Given the description of an element on the screen output the (x, y) to click on. 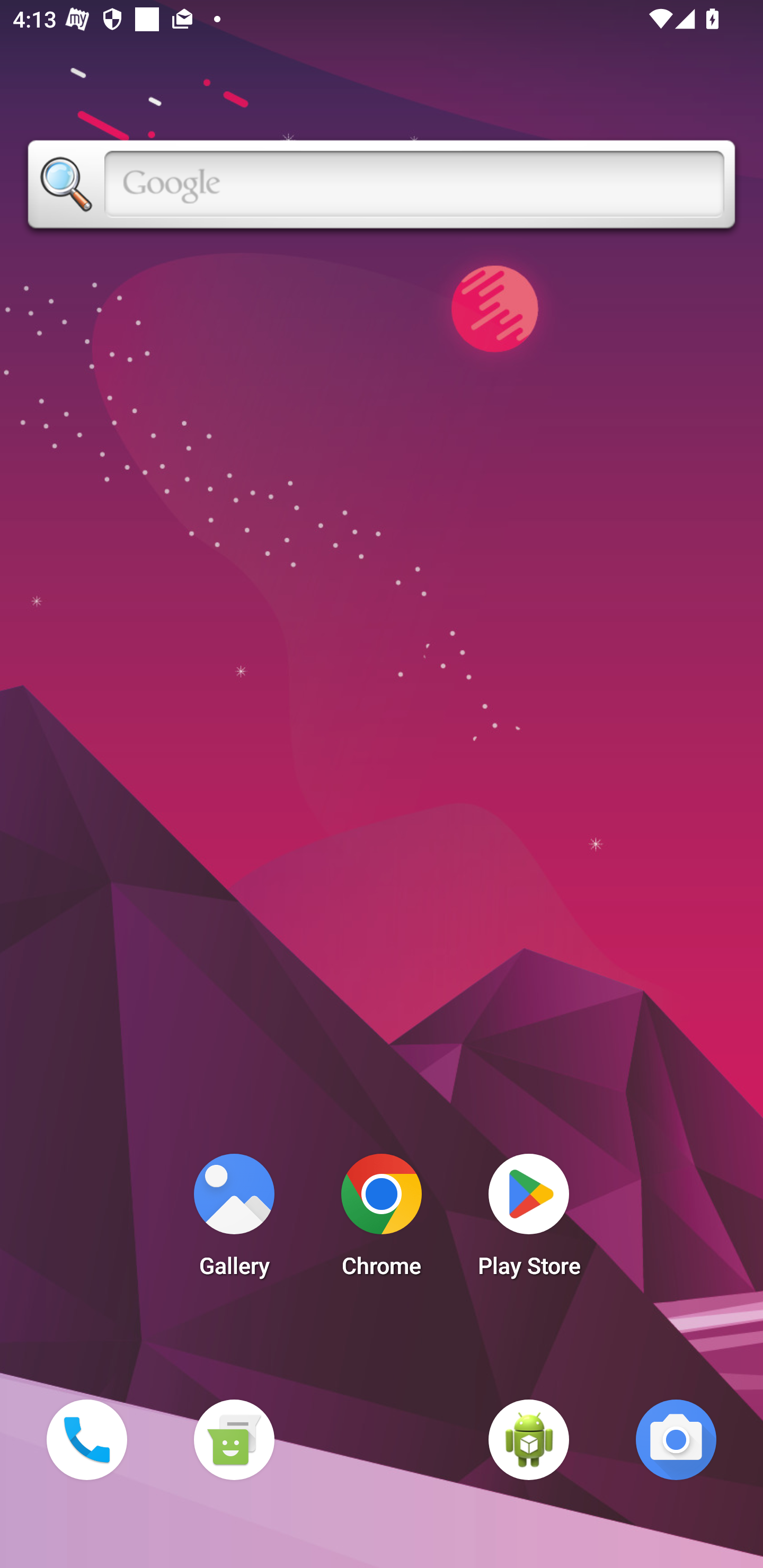
Gallery (233, 1220)
Chrome (381, 1220)
Play Store (528, 1220)
Phone (86, 1439)
Messaging (233, 1439)
WebView Browser Tester (528, 1439)
Camera (676, 1439)
